Given the description of an element on the screen output the (x, y) to click on. 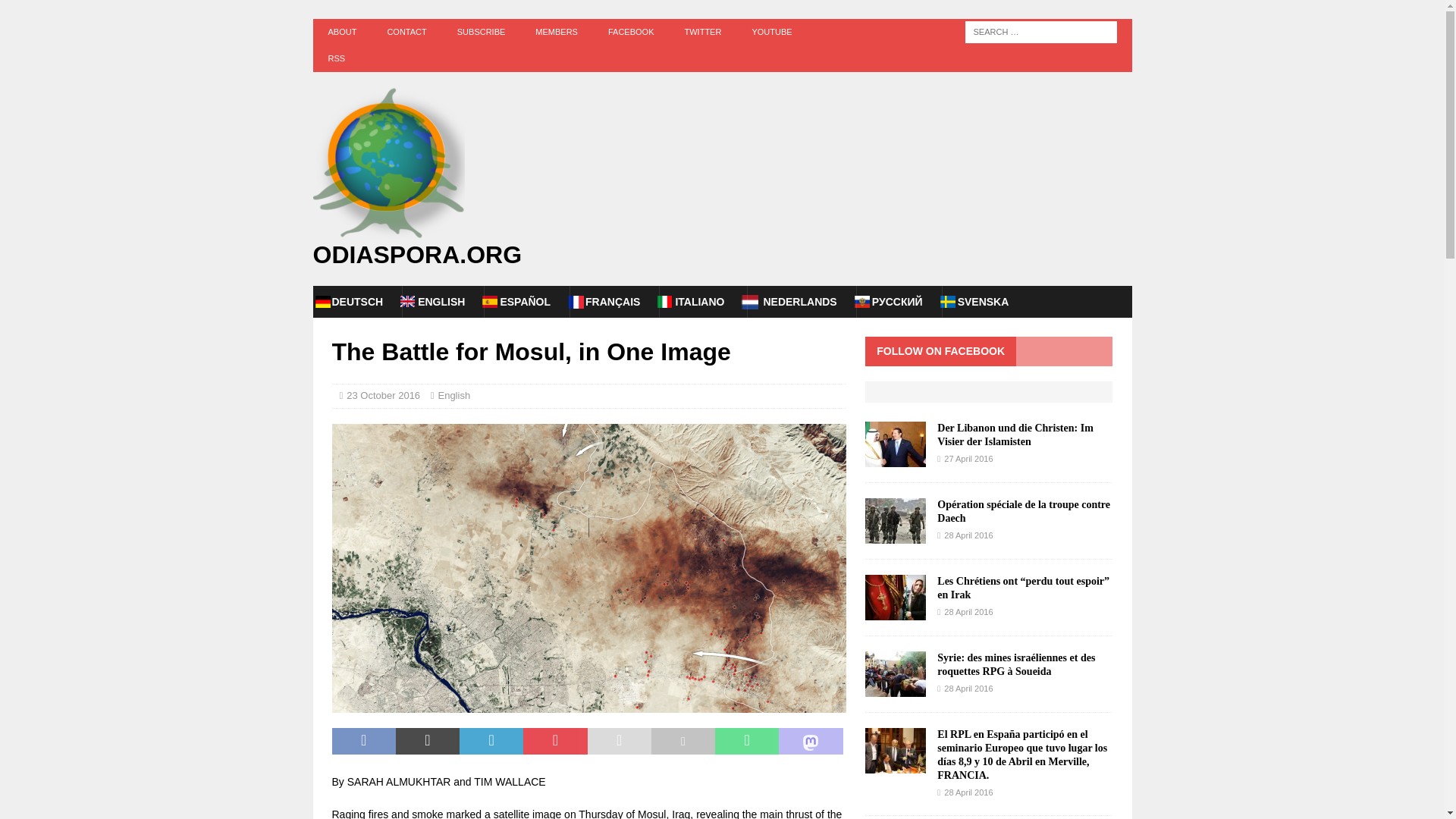
Send this article to a friend (619, 741)
Tweet This Post (428, 741)
NEDERLANDS (798, 301)
CONTACT (406, 31)
Search (56, 11)
Share on Whatsapp (746, 741)
SVENSKA (983, 301)
23 October 2016 (383, 395)
Pin This Post (554, 741)
MEMBERS (555, 31)
RSS (336, 58)
SUBSCRIBE (481, 31)
ITALIANO (699, 301)
TWITTER (702, 31)
